Given the description of an element on the screen output the (x, y) to click on. 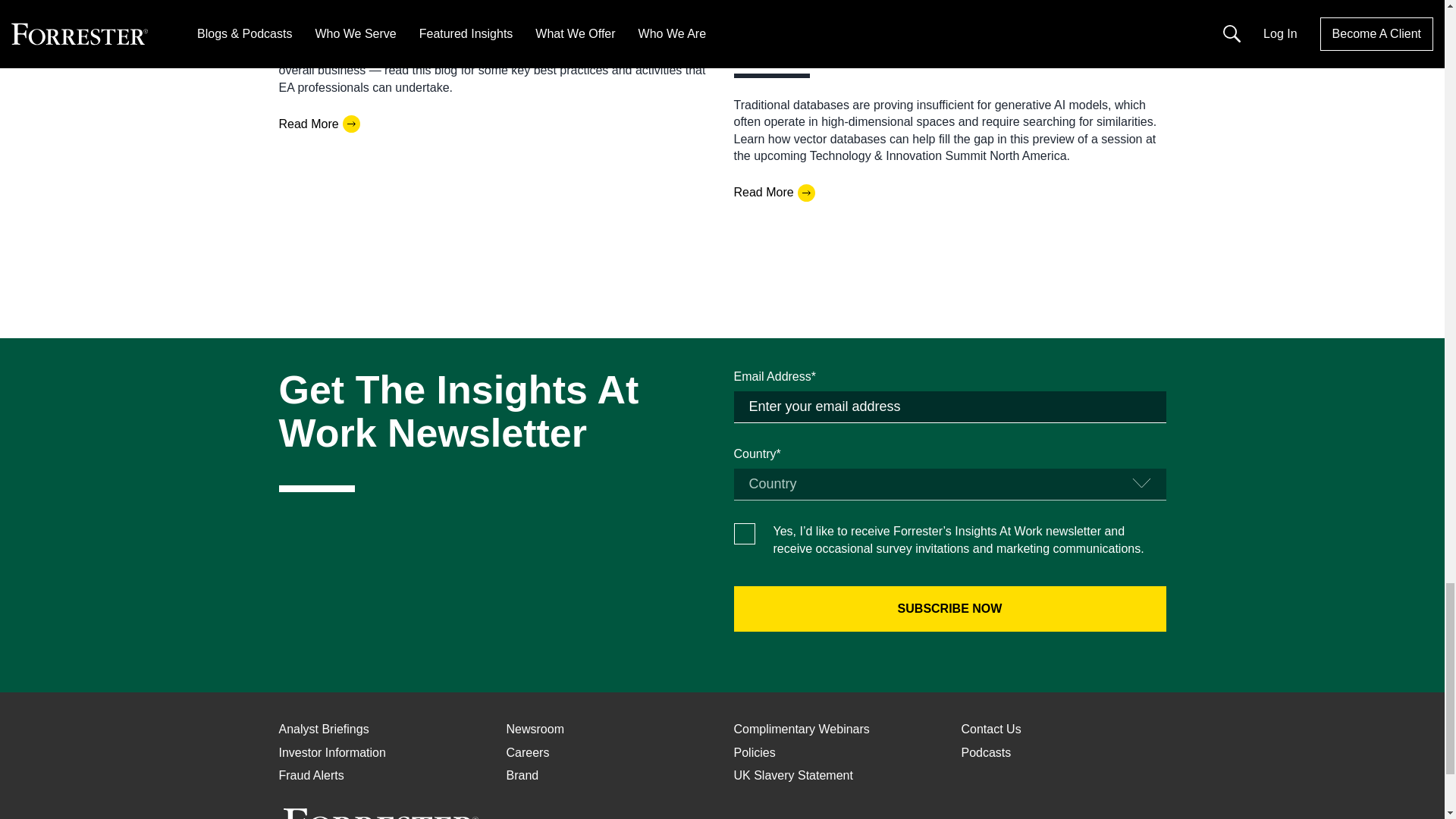
Subscribe Now (949, 608)
Noel Yuhanna (771, 46)
